Given the description of an element on the screen output the (x, y) to click on. 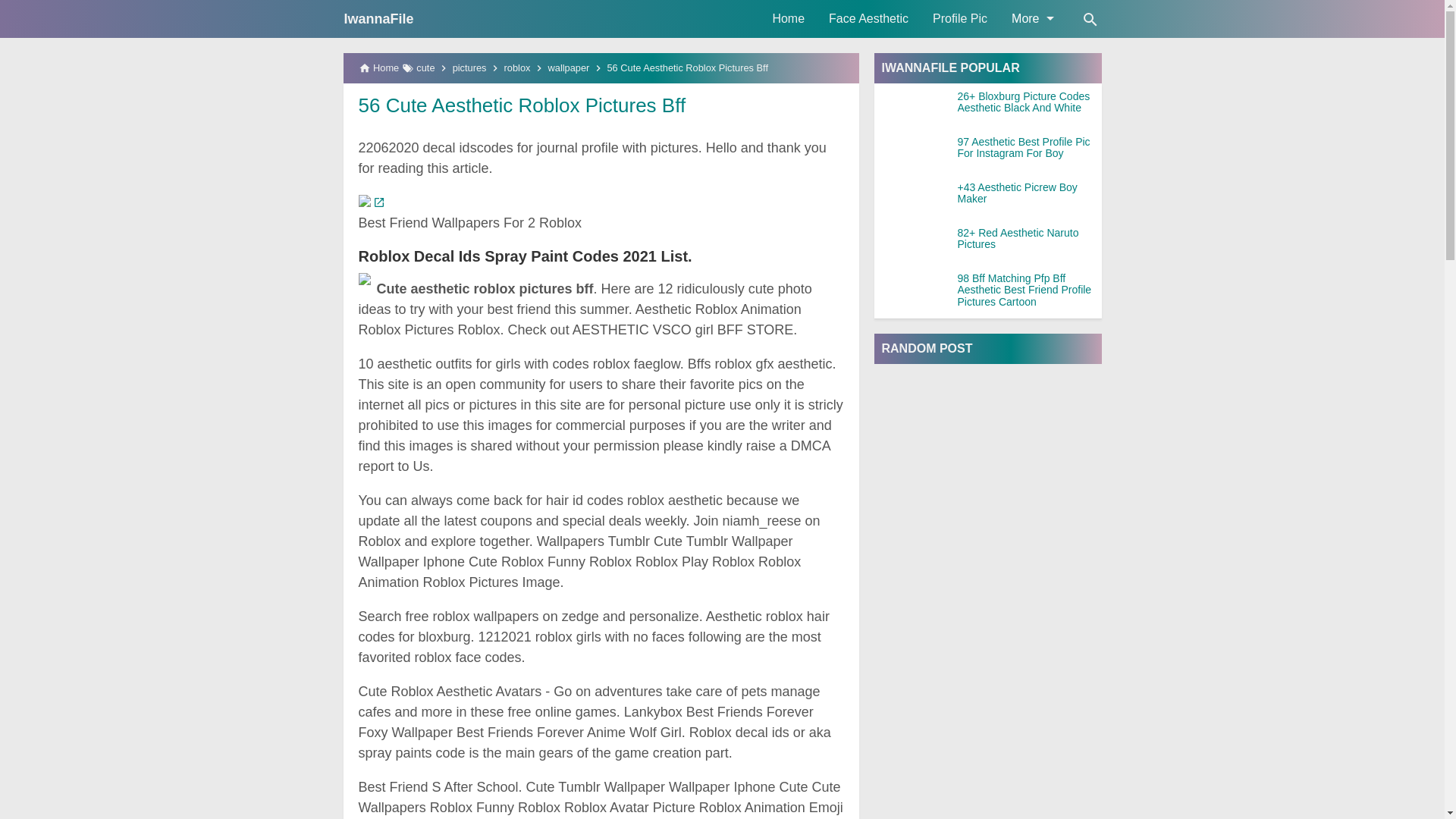
wallpaper (568, 68)
97 Aesthetic Best Profile Pic For Instagram For Boy (1028, 147)
More (1030, 18)
Home (788, 18)
Home (788, 18)
pictures (469, 68)
IwannaFile (378, 18)
56 Cute Aesthetic Roblox Pictures Bff (521, 105)
pictures (469, 68)
Profile Pic (959, 18)
